Given the description of an element on the screen output the (x, y) to click on. 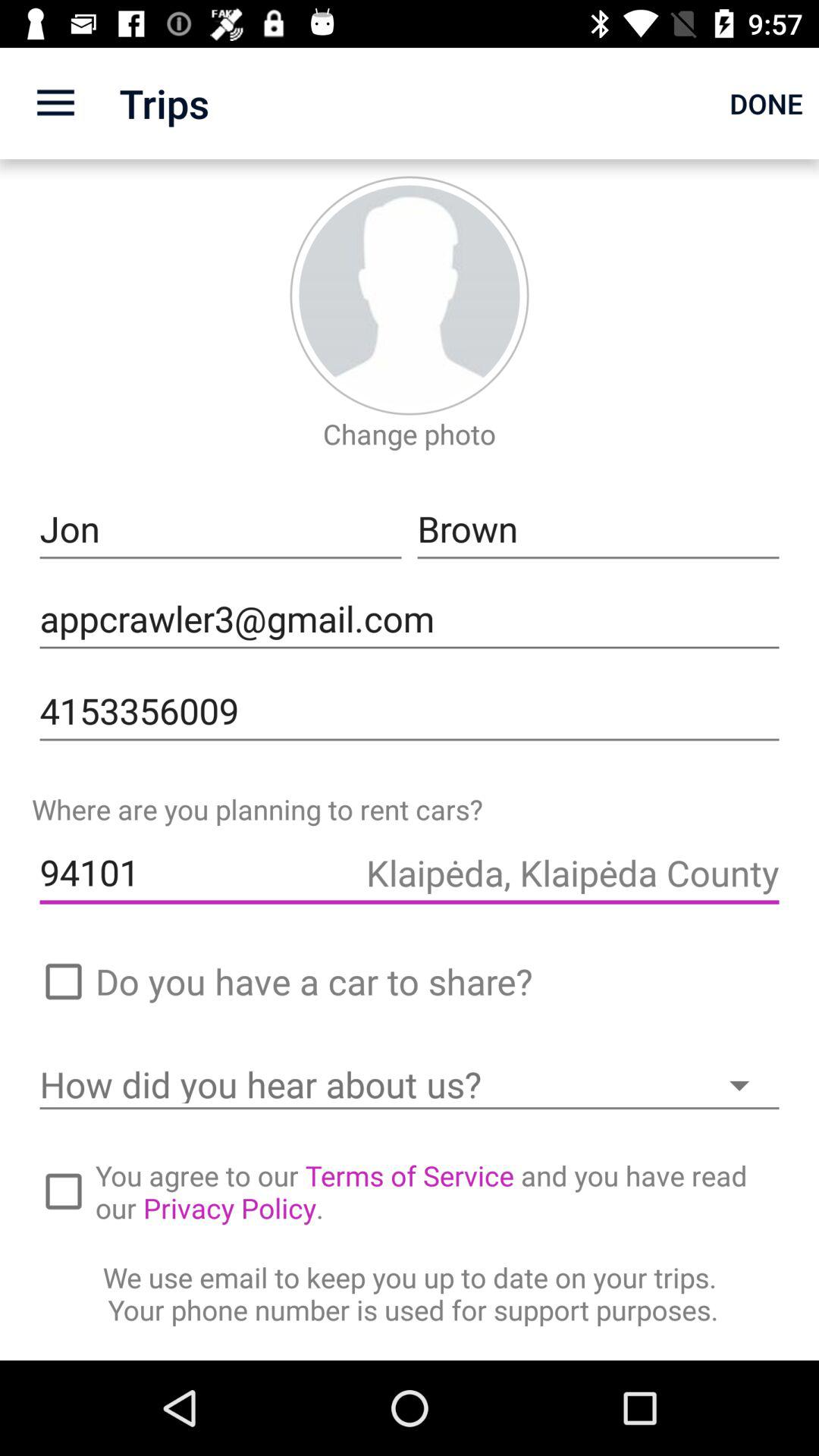
press icon above change photo item (409, 295)
